Given the description of an element on the screen output the (x, y) to click on. 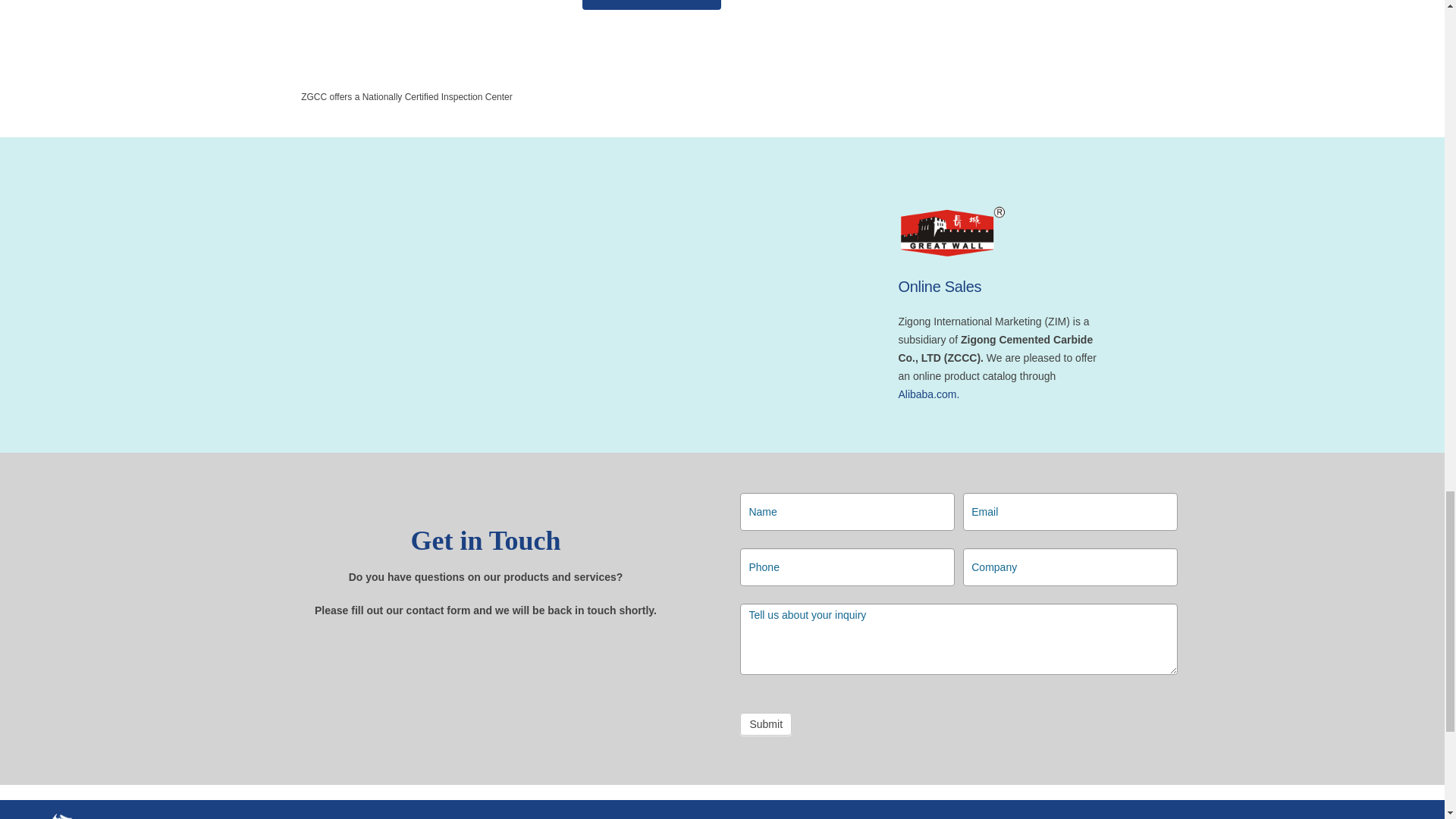
YouTube video player 1 (484, 302)
